Given the description of an element on the screen output the (x, y) to click on. 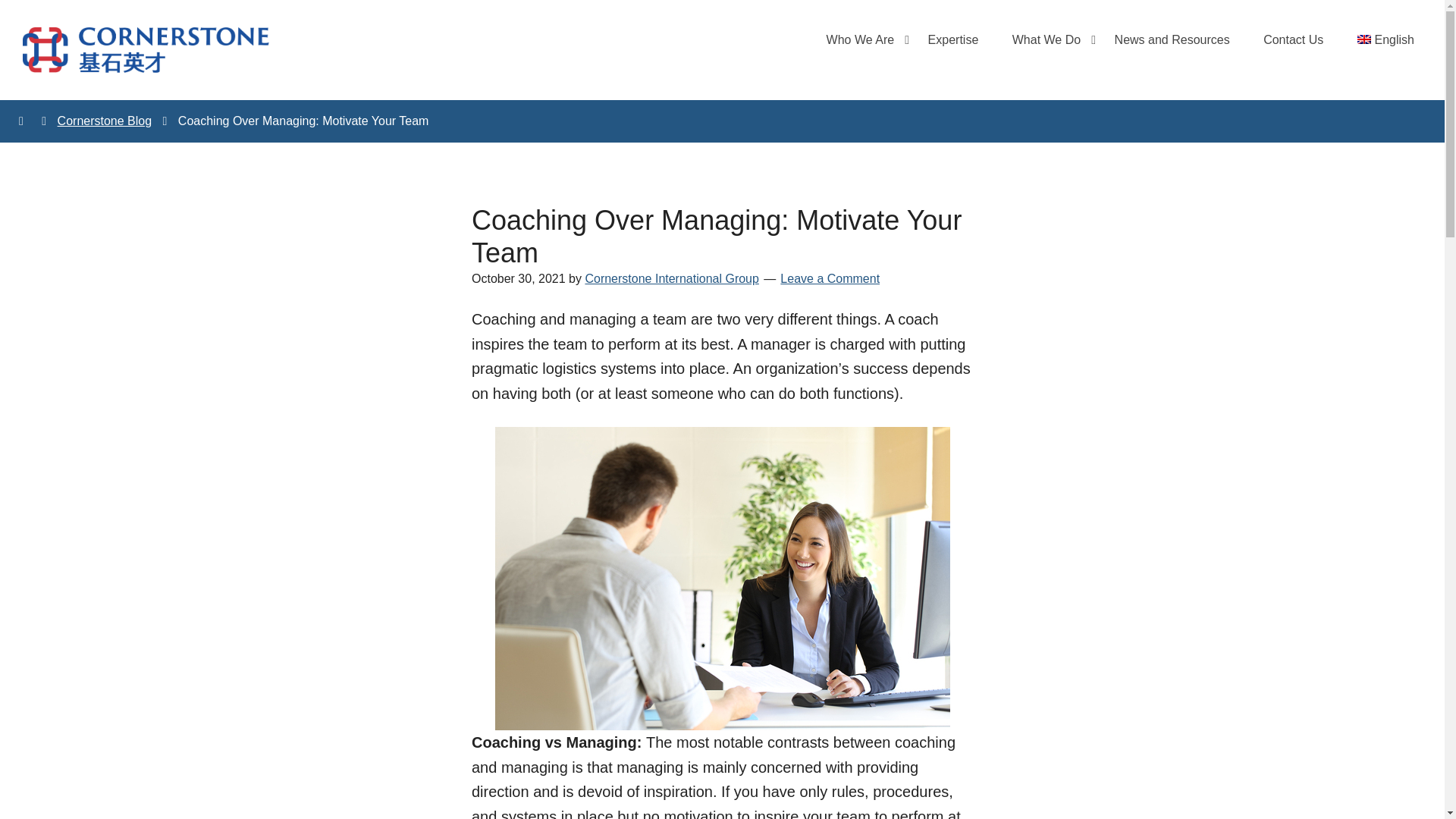
Who We Are (860, 39)
Leave a Comment (829, 278)
News and Resources (1171, 39)
What We Do (1046, 39)
Cornerstone International Group (671, 278)
English (1385, 39)
Expertise (953, 39)
Contact Us (1292, 39)
English (1385, 39)
Cornerstone China (146, 49)
Cornerstone Blog (105, 120)
